Given the description of an element on the screen output the (x, y) to click on. 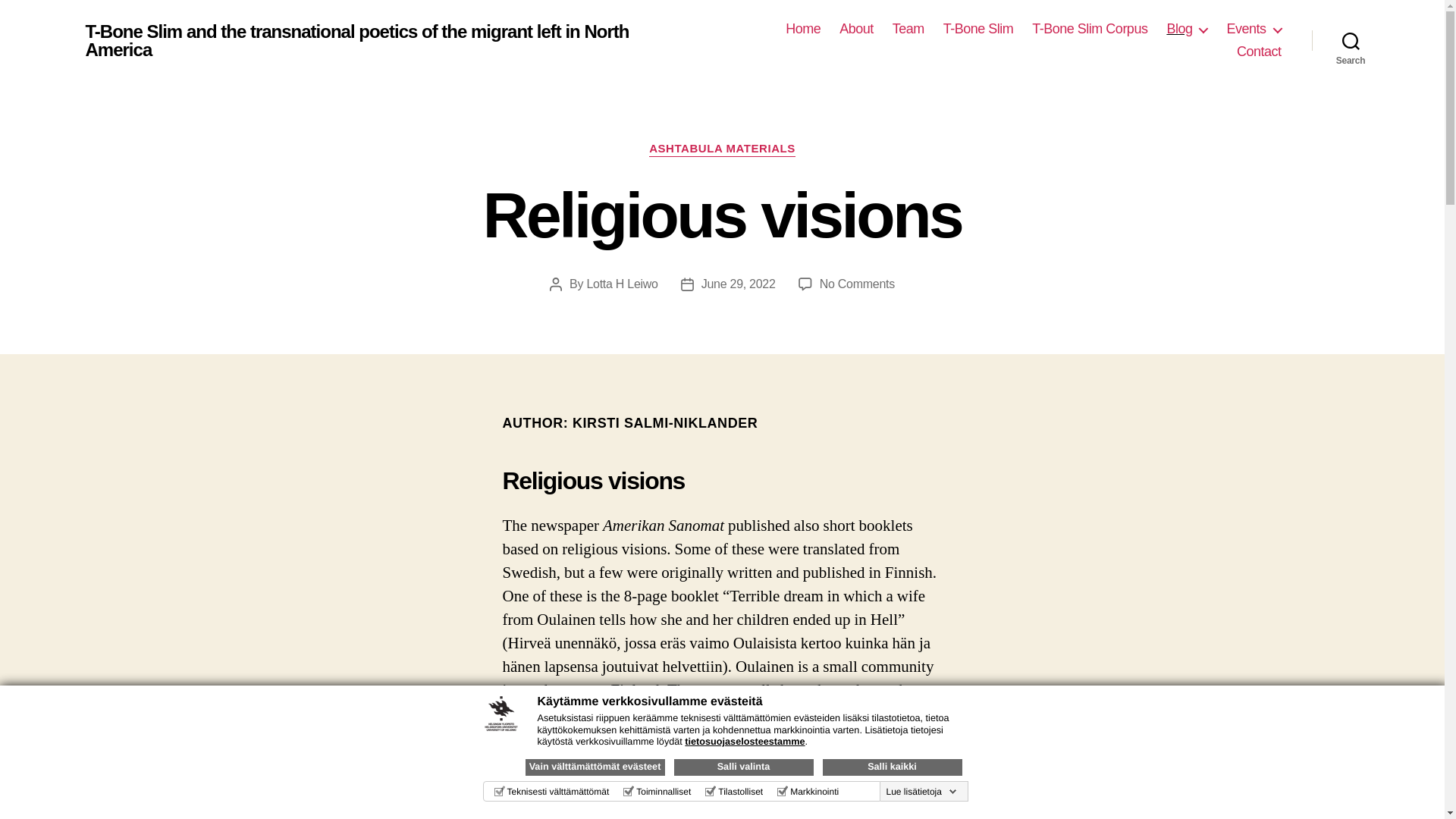
tietosuojaselosteestamme (744, 741)
Salli valinta (742, 767)
Salli kaikki (891, 767)
